Given the description of an element on the screen output the (x, y) to click on. 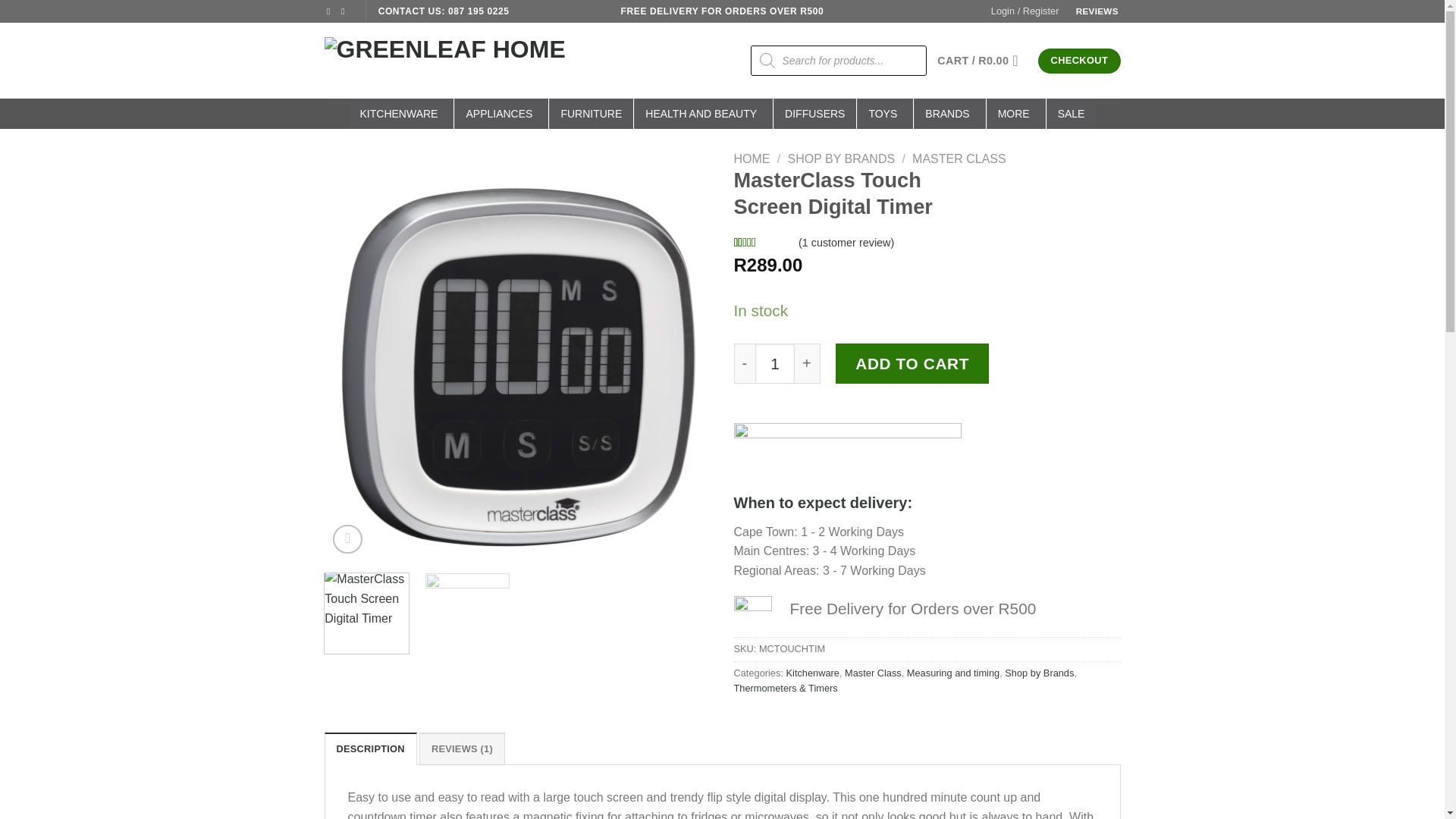
1 (774, 363)
REVIEWS (1097, 11)
- (744, 363)
Greenleaf Home - Shop Home and Kitchenware Online (475, 60)
Follow on Facebook (331, 10)
Zoom (347, 539)
Cart (982, 60)
Login (1025, 11)
Follow on Instagram (345, 10)
